Given the description of an element on the screen output the (x, y) to click on. 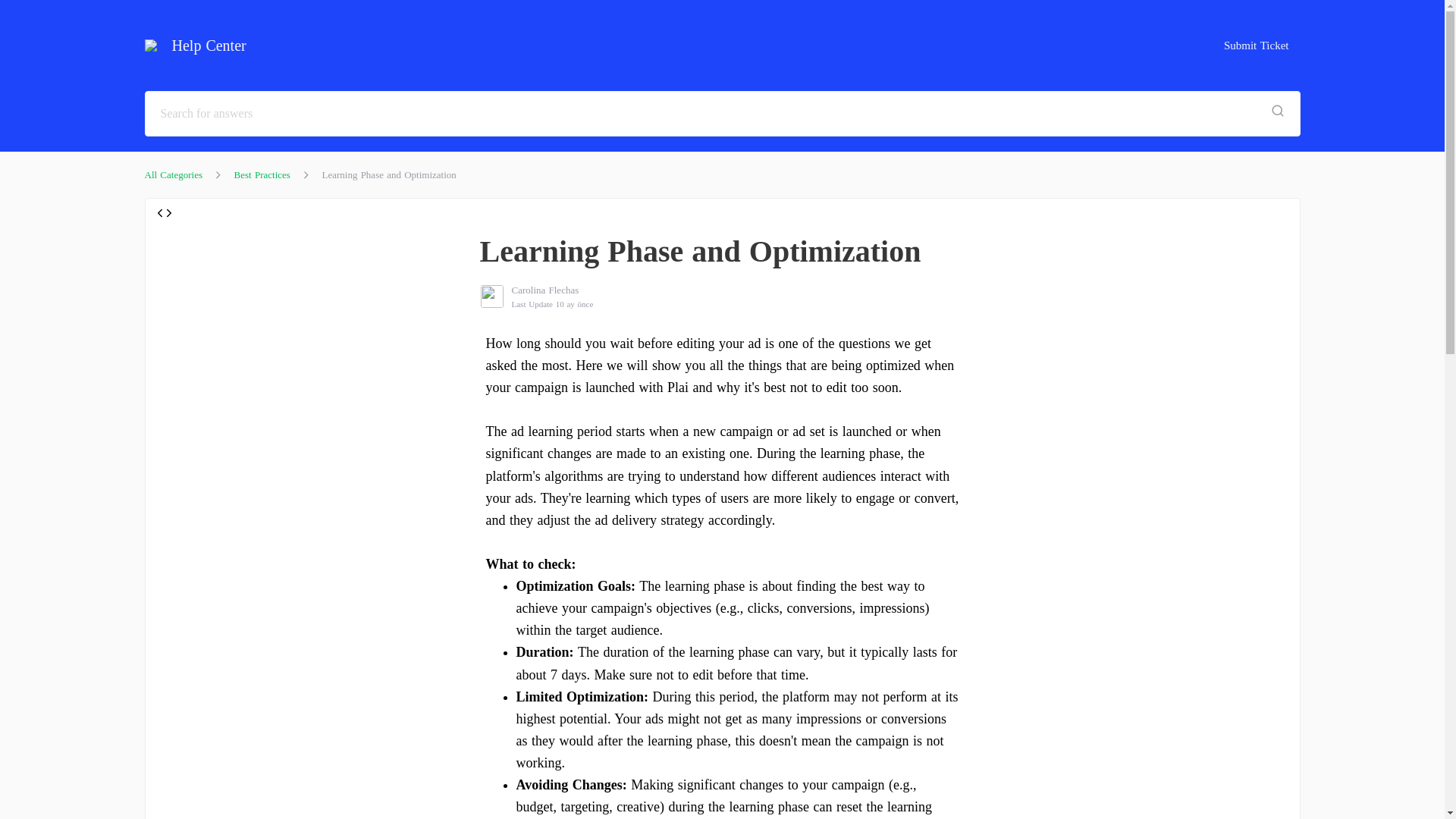
All Categories (173, 174)
Help Center (202, 45)
Submit Ticket (1256, 45)
Best Practices (261, 174)
